Given the description of an element on the screen output the (x, y) to click on. 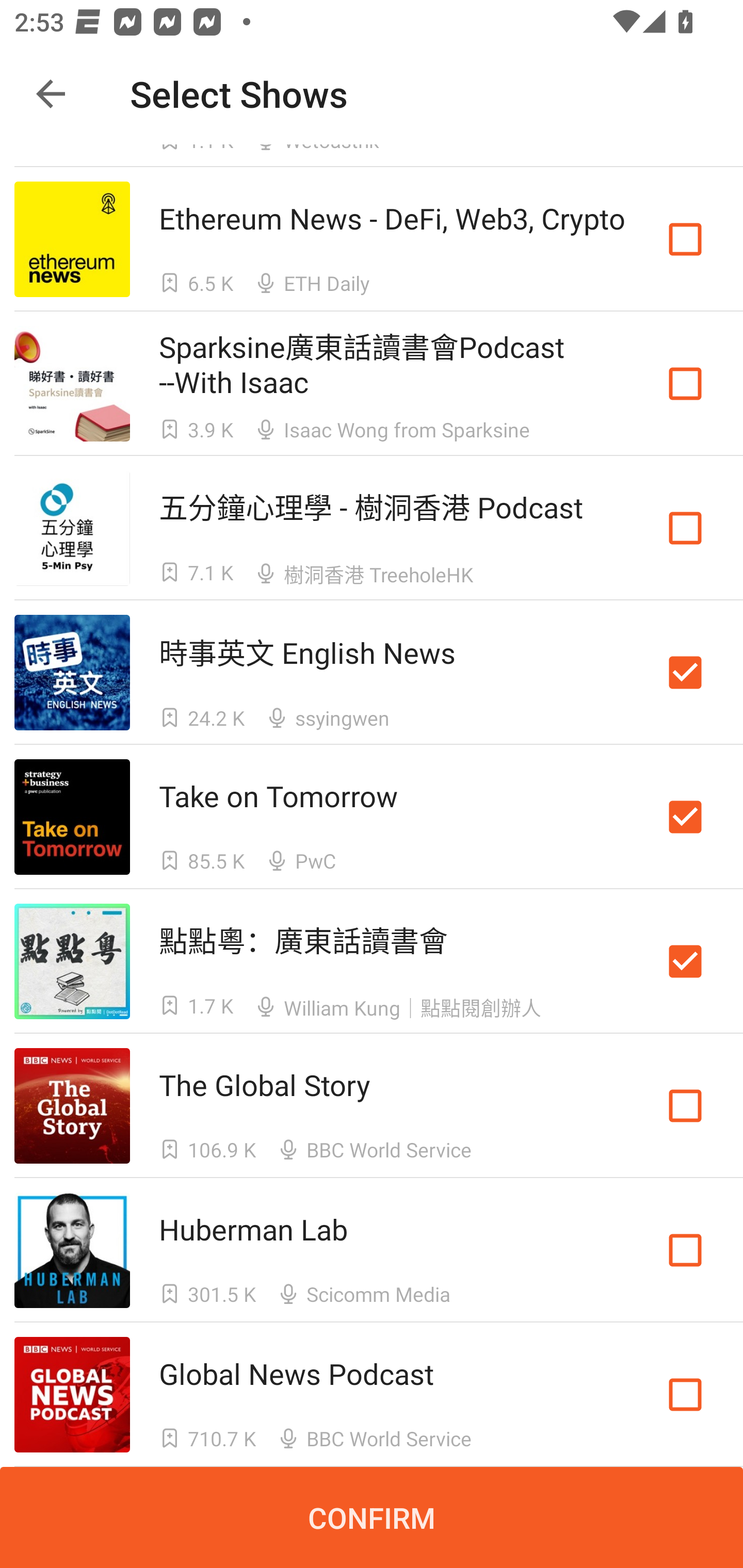
Navigate up (50, 93)
Take on Tomorrow Take on Tomorrow  85.5 K  PwC (371, 816)
CONFIRM (371, 1517)
